Given the description of an element on the screen output the (x, y) to click on. 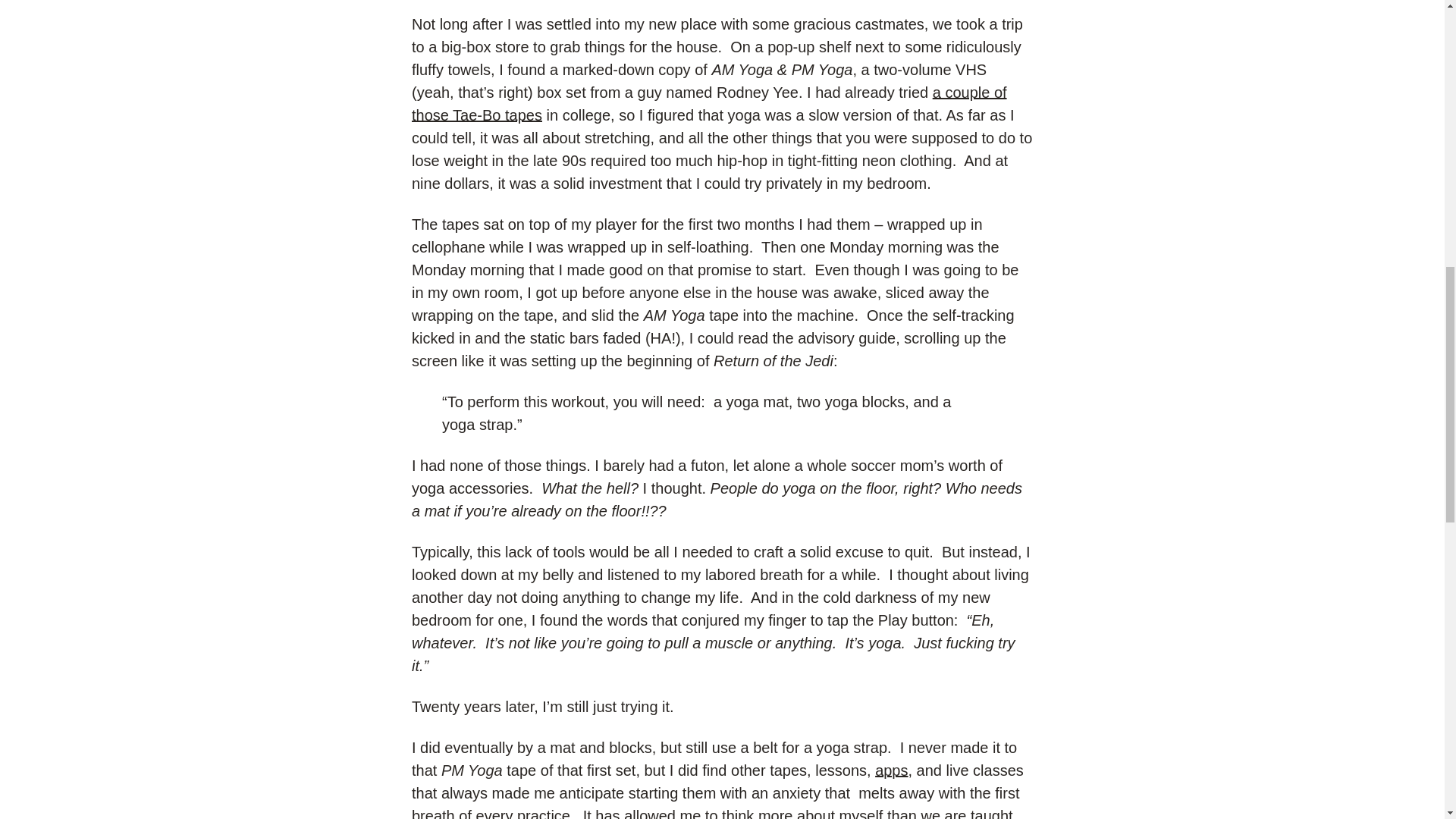
a couple of those Tae-Bo tapes (709, 103)
apps (891, 770)
